Given the description of an element on the screen output the (x, y) to click on. 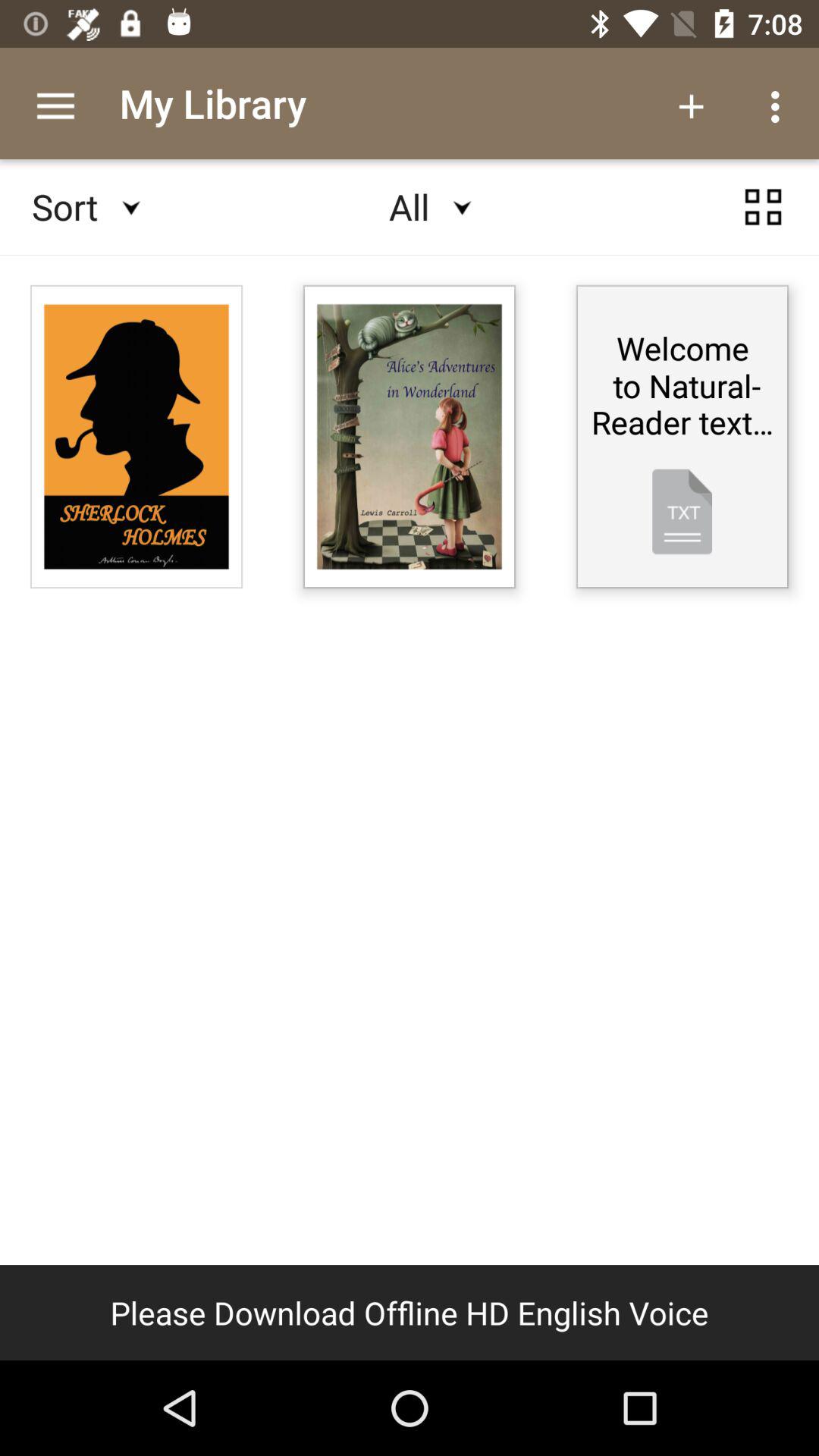
choose the selection (763, 206)
